Given the description of an element on the screen output the (x, y) to click on. 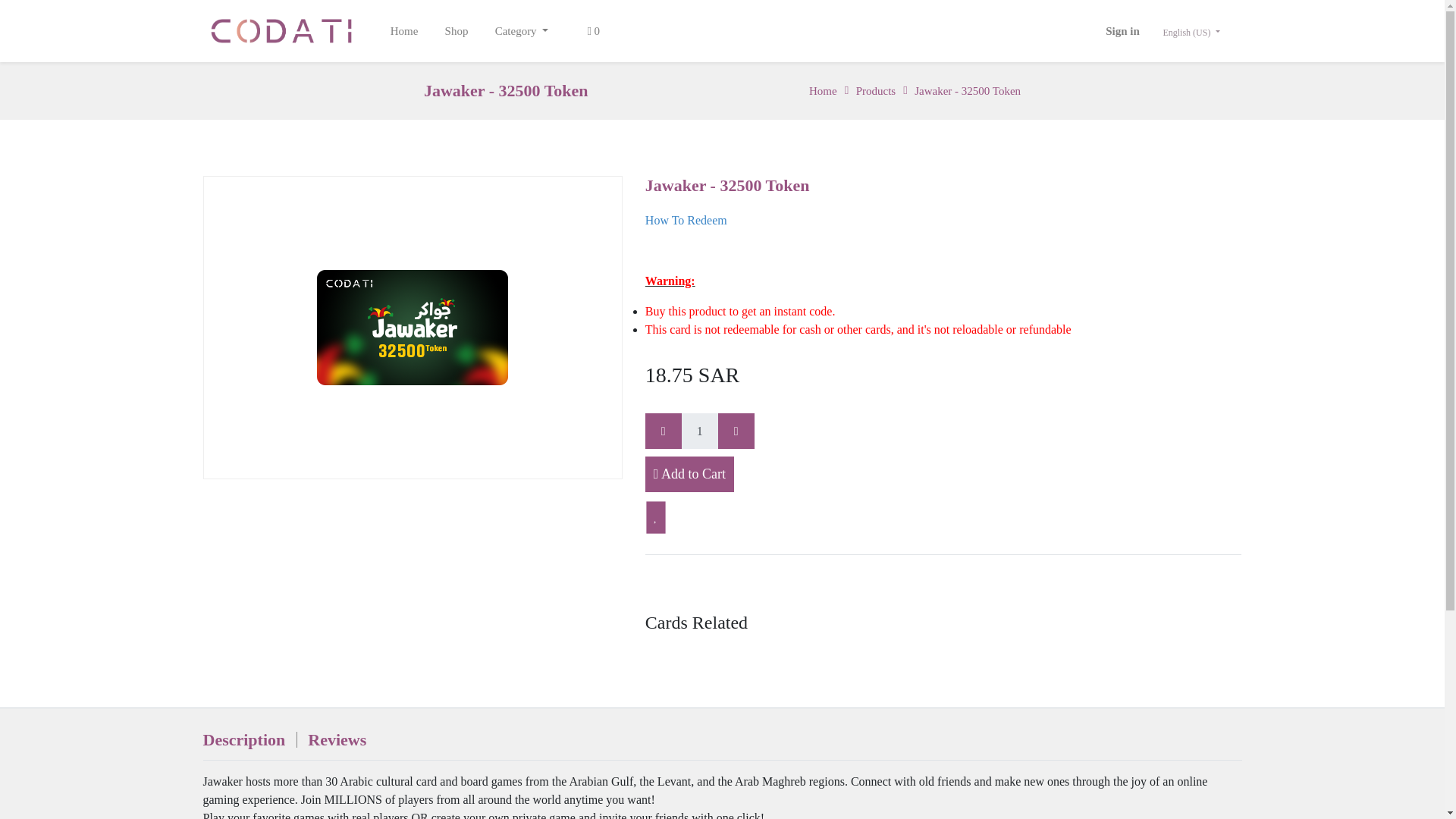
Category (521, 30)
Products (870, 91)
Add one (735, 430)
Remove one (663, 430)
1 (700, 430)
Jawaker - 32500 Token (961, 91)
Home (823, 91)
Codati - KSA (281, 30)
Sign in (1122, 30)
